Given the description of an element on the screen output the (x, y) to click on. 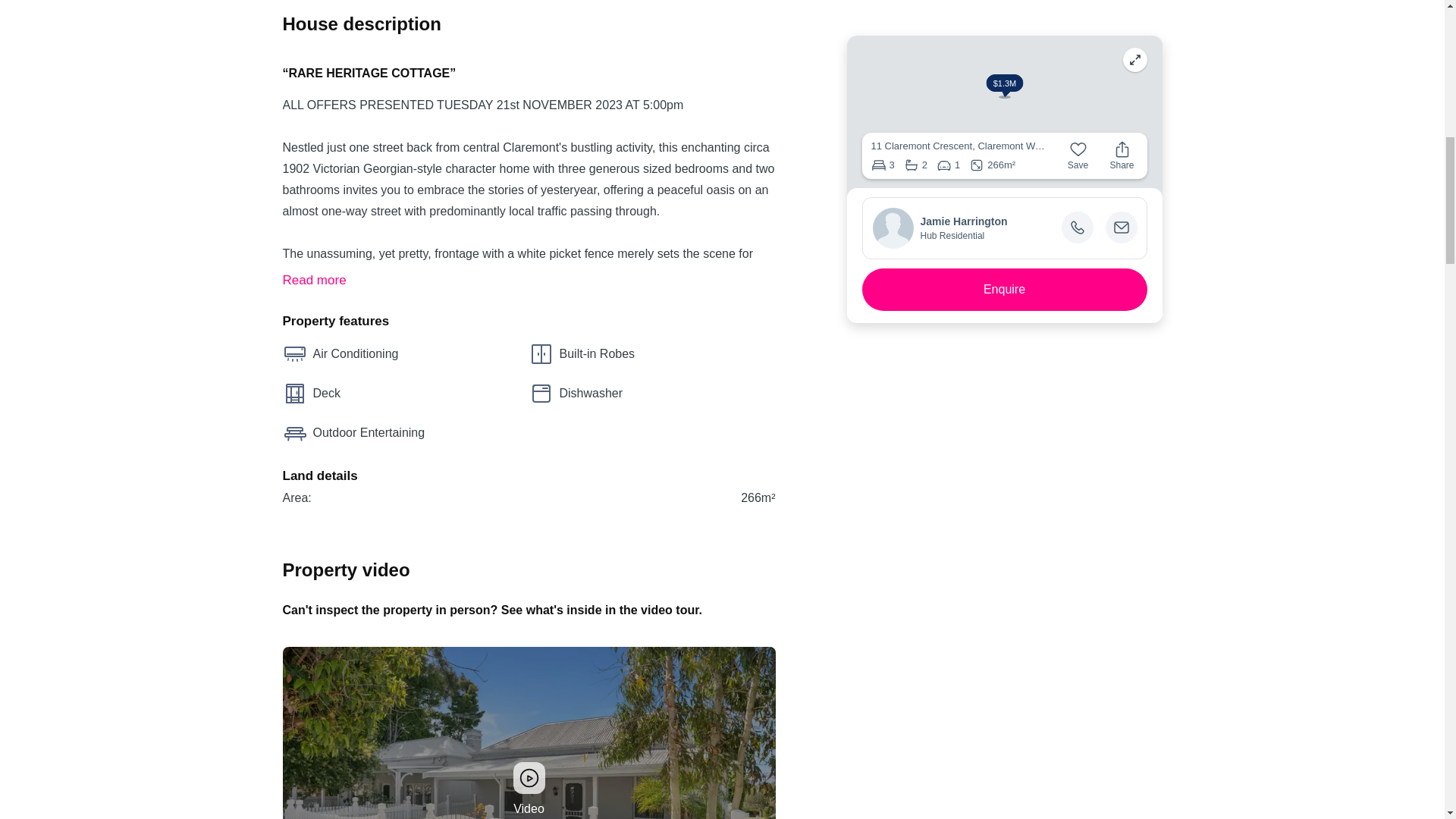
Read more (314, 280)
Video (528, 733)
